Given the description of an element on the screen output the (x, y) to click on. 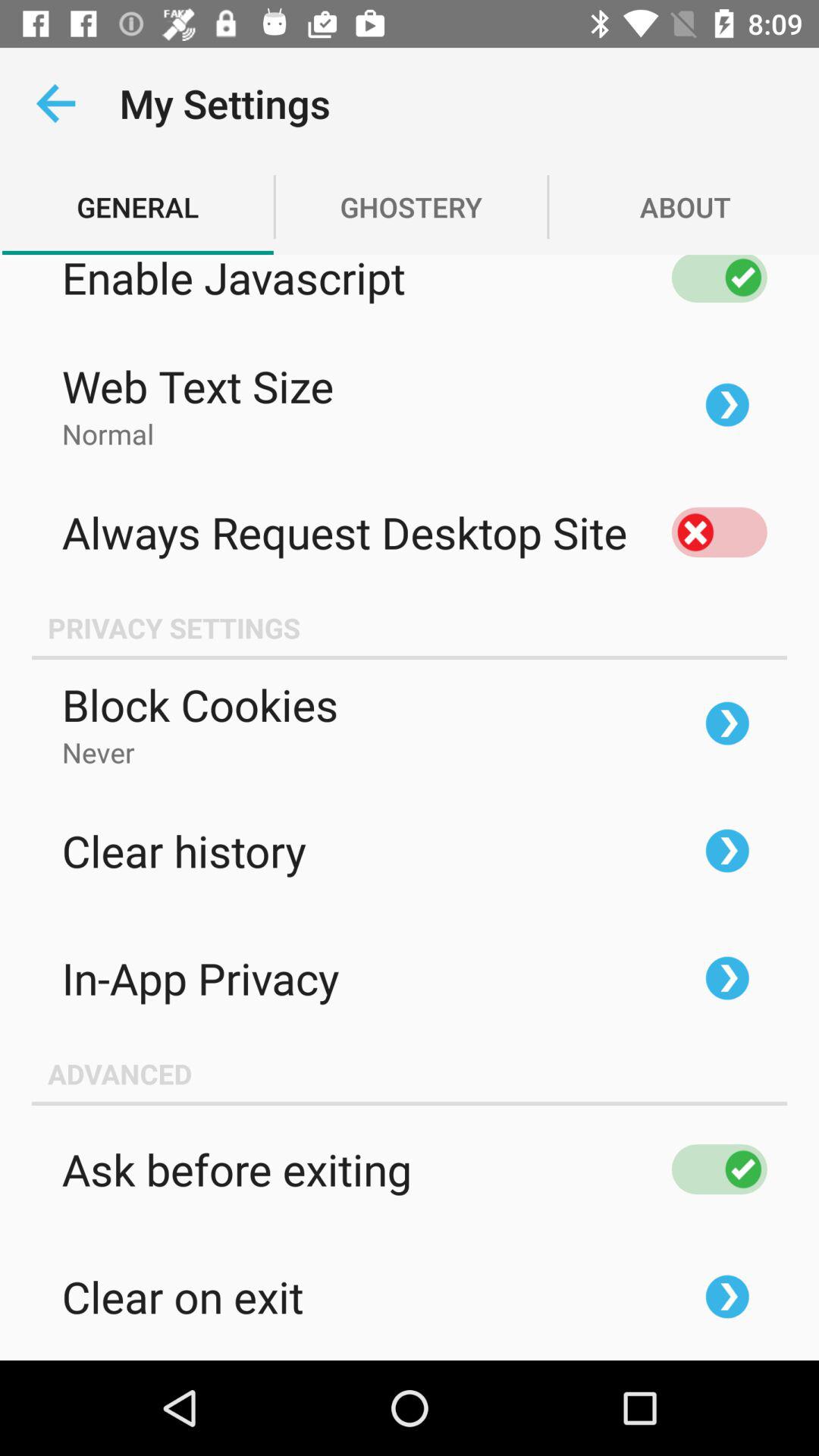
tap the app to the left of the my settings app (55, 103)
